Given the description of an element on the screen output the (x, y) to click on. 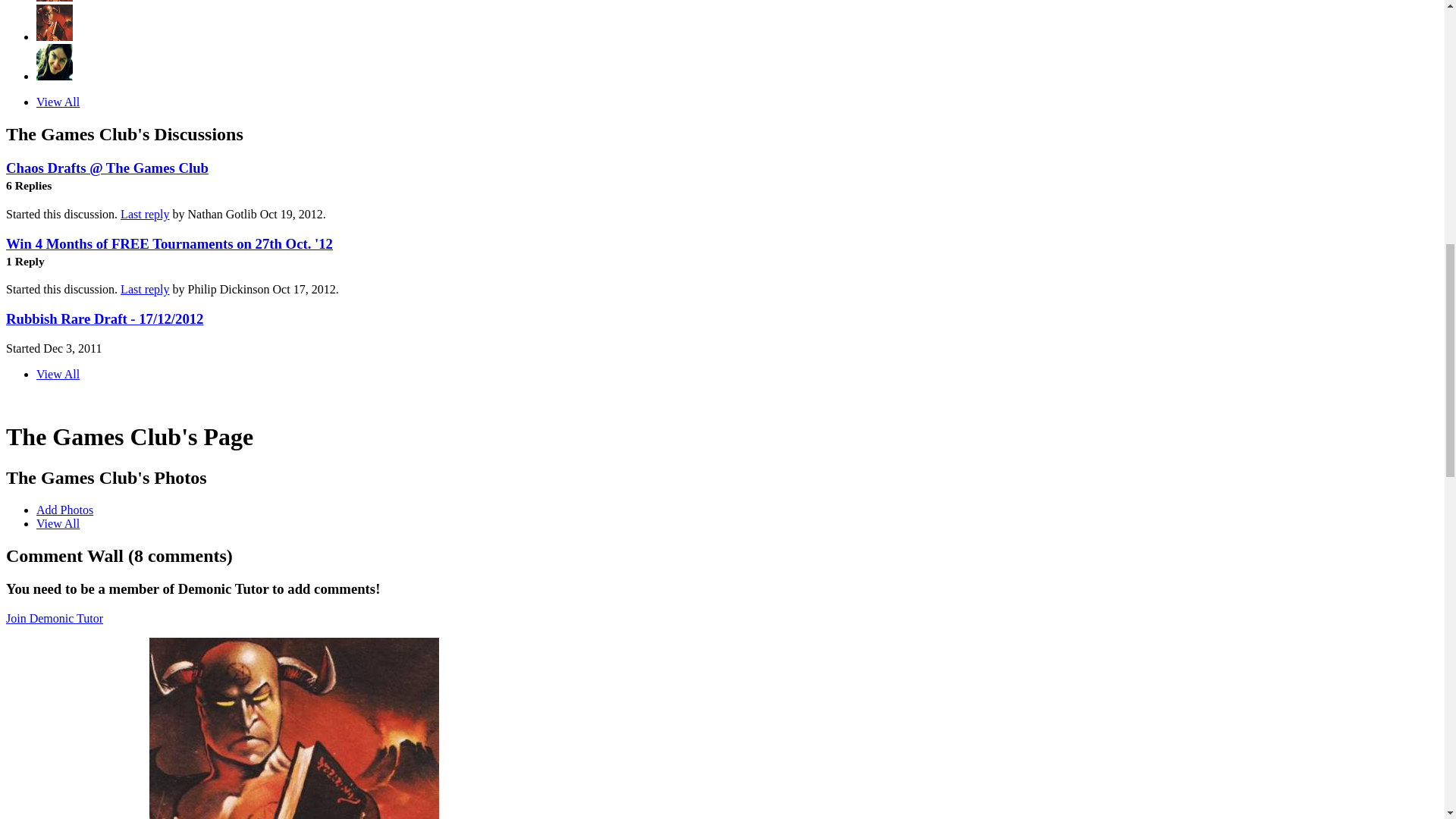
Win 4 Months of FREE Tournaments on 27th Oct. '12 (169, 243)
Join Demonic Tutor (54, 617)
View All (58, 522)
Tiff Leek (54, 75)
Add Photos (64, 509)
Last reply (144, 288)
Last reply (144, 214)
View All (58, 373)
View All (58, 101)
Graham Theobalds (54, 2)
